Given the description of an element on the screen output the (x, y) to click on. 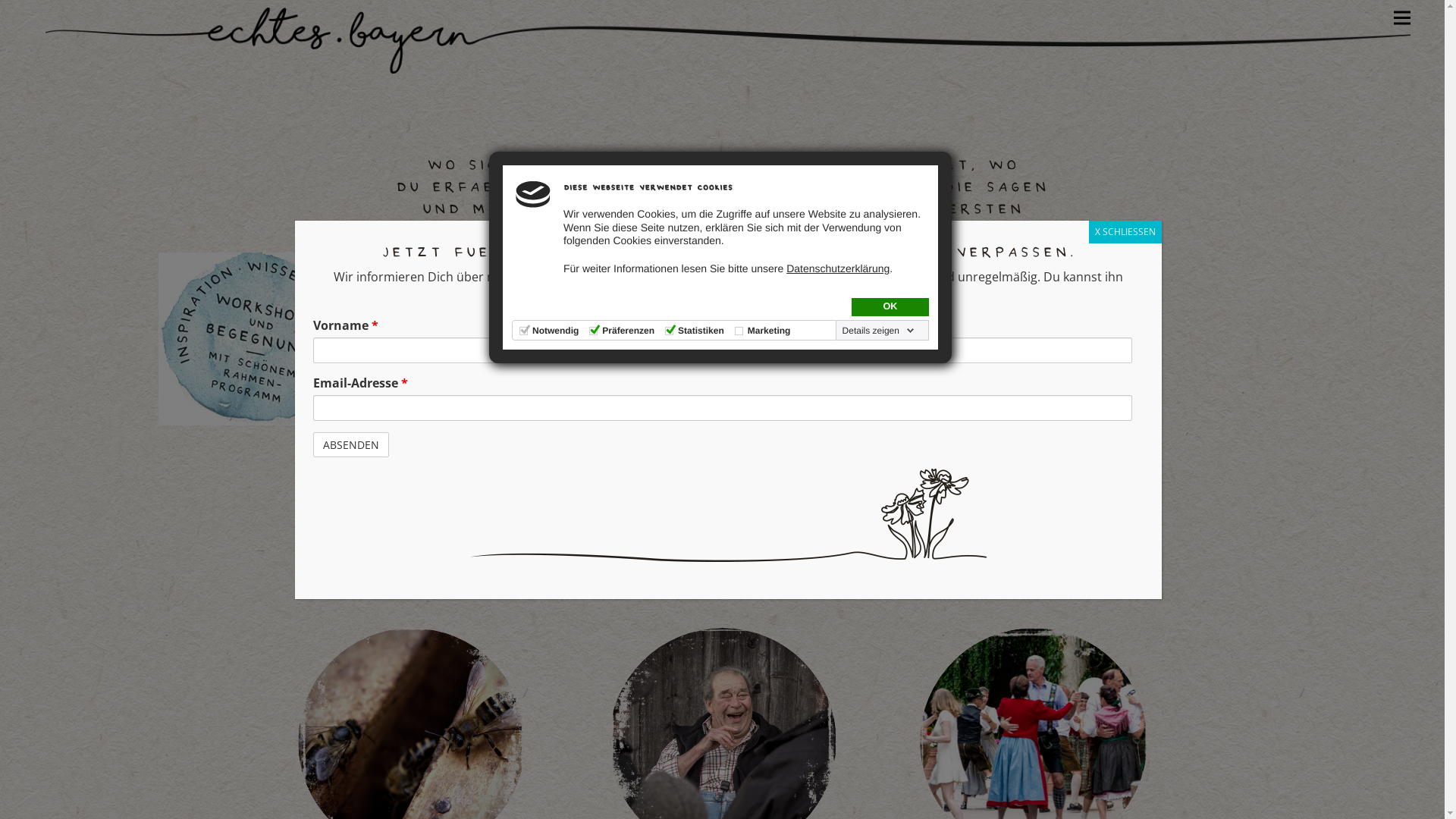
Impressum Element type: text (773, 445)
Absenden Element type: text (351, 444)
Pinterest Element type: hover (843, 538)
Kath. Kreisbildungswerk GAP e.V. Element type: text (835, 477)
Twitter Element type: hover (809, 538)
X SCHLIESSEN Element type: text (1124, 231)
OK Element type: text (889, 307)
Details zeigen Element type: text (878, 330)
NEULAND*MEDIA Element type: text (767, 799)
flyer_front_loRes Element type: hover (253, 338)
Facebook Element type: hover (774, 538)
Datenschutz Element type: text (775, 413)
Absenden Element type: text (310, 589)
